Given the description of an element on the screen output the (x, y) to click on. 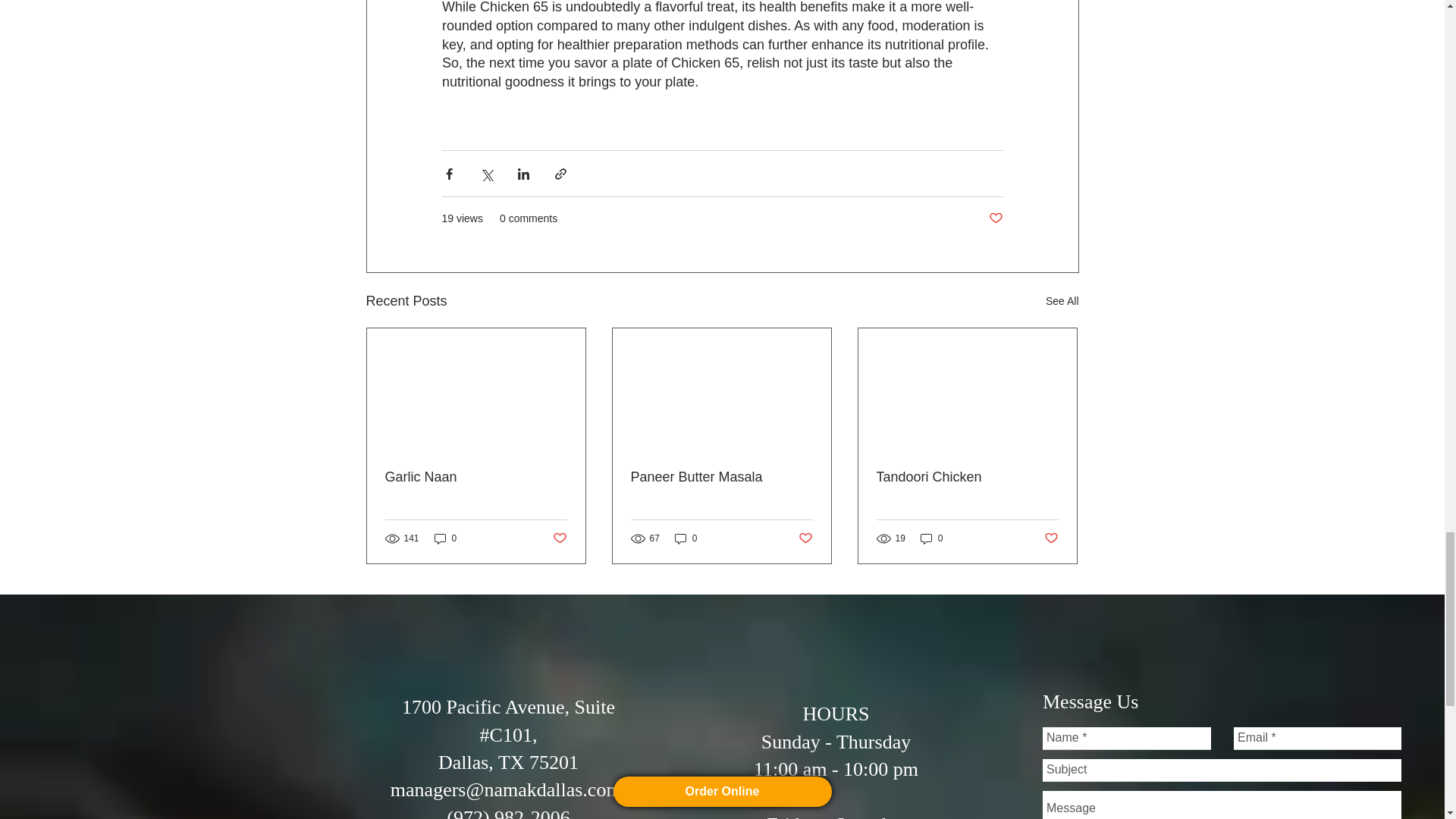
Post not marked as liked (558, 538)
Post not marked as liked (1050, 538)
Paneer Butter Masala (721, 477)
0 (445, 538)
Tandoori Chicken (967, 477)
See All (1061, 301)
0 (931, 538)
Post not marked as liked (804, 538)
0 (685, 538)
Garlic Naan (476, 477)
Post not marked as liked (995, 218)
